Given the description of an element on the screen output the (x, y) to click on. 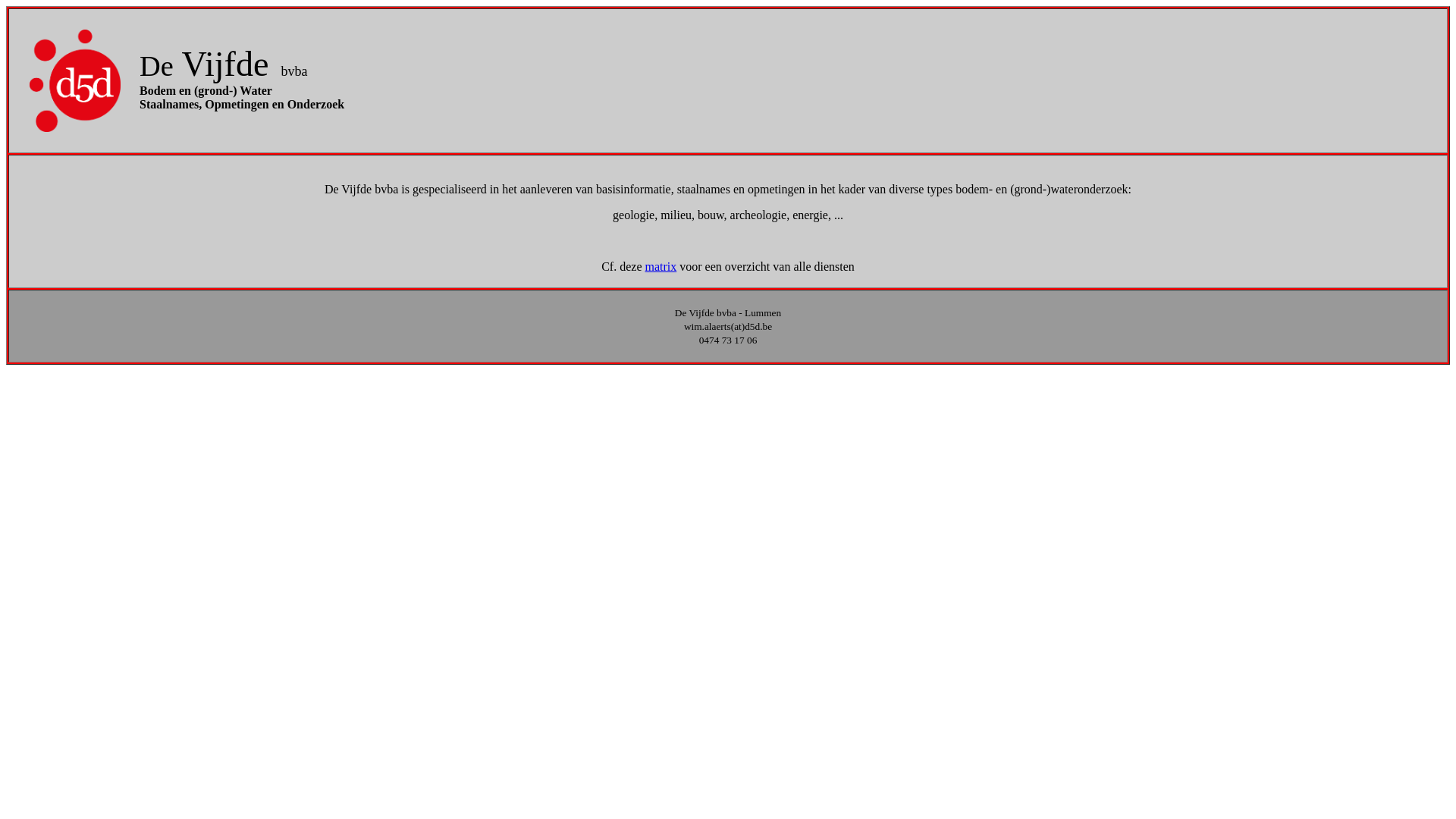
matrix Element type: text (660, 266)
